Given the description of an element on the screen output the (x, y) to click on. 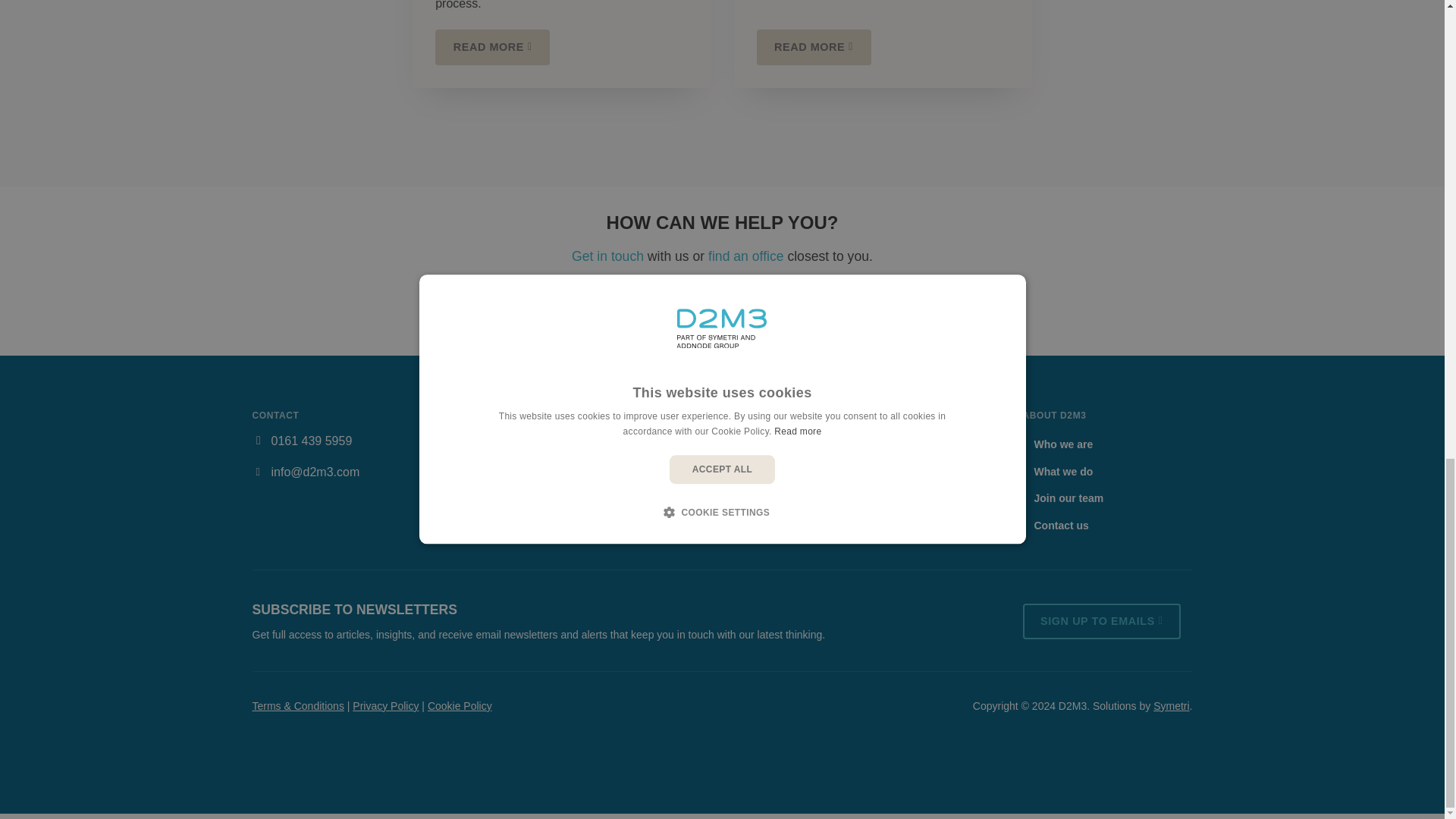
Contact us (607, 255)
Offices (745, 255)
Contact us (721, 311)
Subscribe (1101, 621)
